Given the description of an element on the screen output the (x, y) to click on. 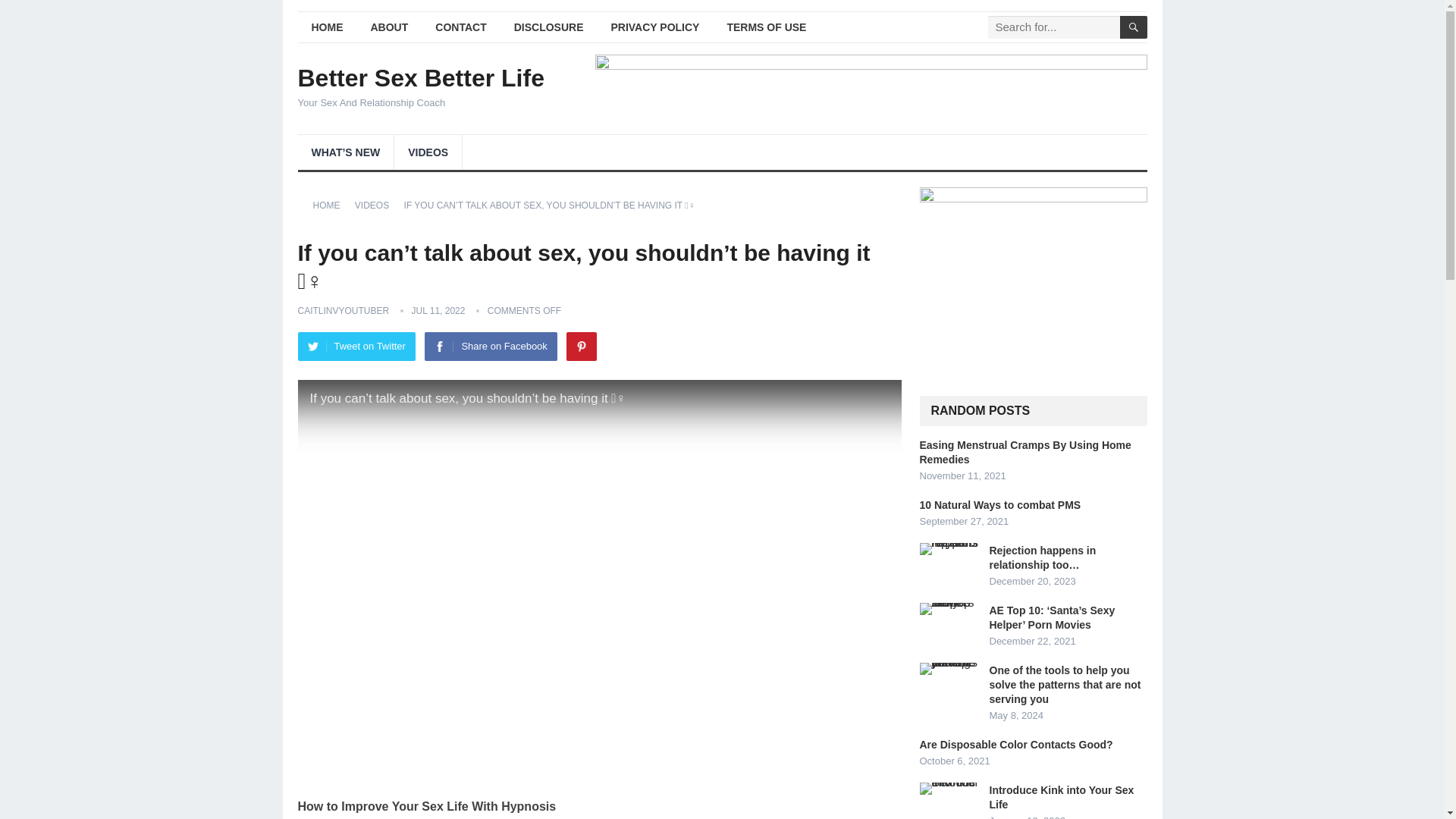
View all posts in Videos (376, 204)
Better Sex Better Life (420, 78)
VIDEOS (427, 152)
Tweet on Twitter (355, 346)
CAITLINVYOUTUBER (342, 310)
Introduce Kink into Your Sex Life 16 (948, 788)
HOME (331, 204)
AE Top 10: 'Santa's Sexy Helper' Porn Movies 14 (948, 608)
HOME (326, 27)
TERMS OF USE (766, 27)
Pinterest (581, 346)
DISCLOSURE (548, 27)
Posts by CaitlinVYoutuber (342, 310)
ABOUT (389, 27)
